Given the description of an element on the screen output the (x, y) to click on. 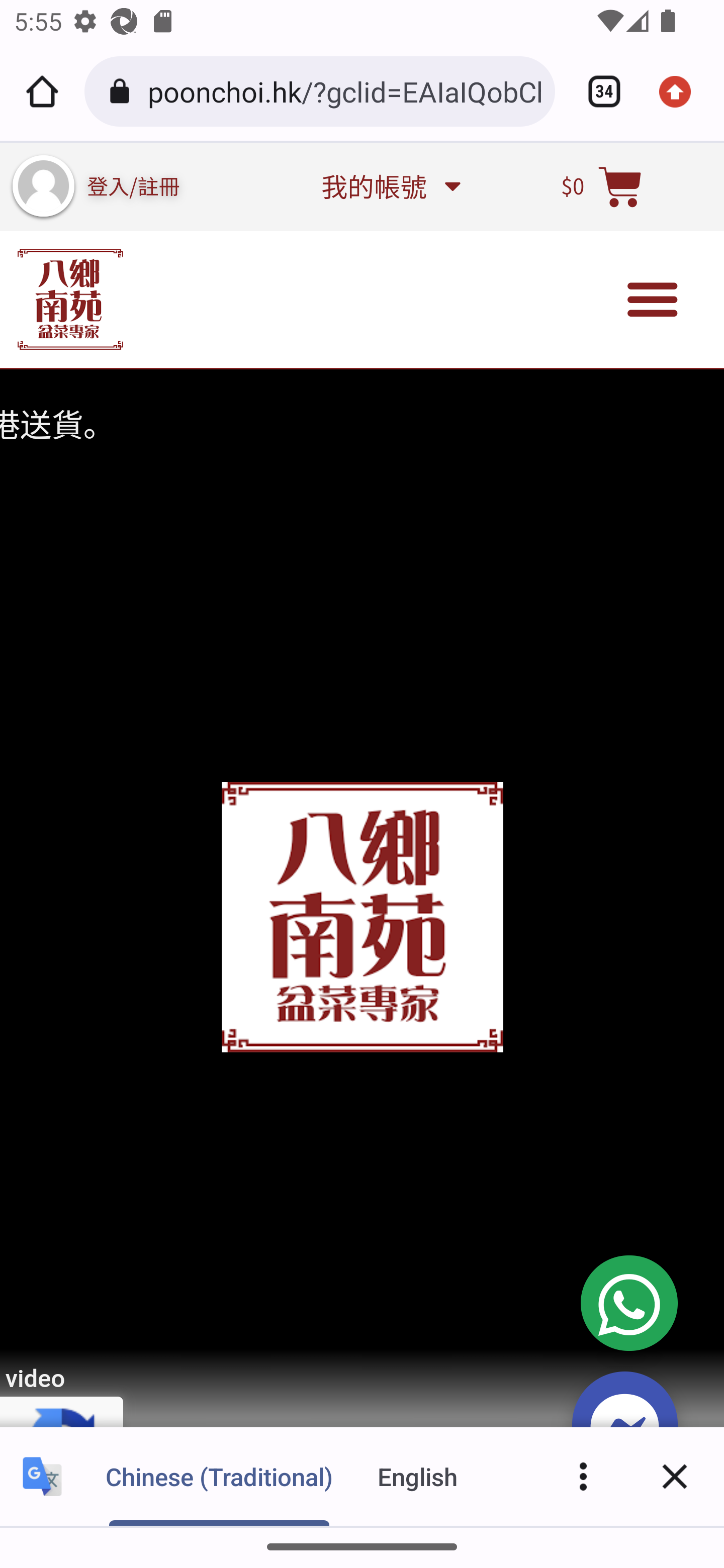
Home (42, 91)
Connection is secure (122, 91)
Switch or close tabs (597, 91)
Update available. More options (681, 91)
$0  購物籃 $ 0  (601, 186)
我的帳號  我的帳號  (390, 185)
my-account (43, 186)
登入/註冊 (133, 185)
www.poonchoi (70, 299)
選單切換 (652, 299)
English (417, 1475)
More options (582, 1475)
Close (674, 1475)
